Given the description of an element on the screen output the (x, y) to click on. 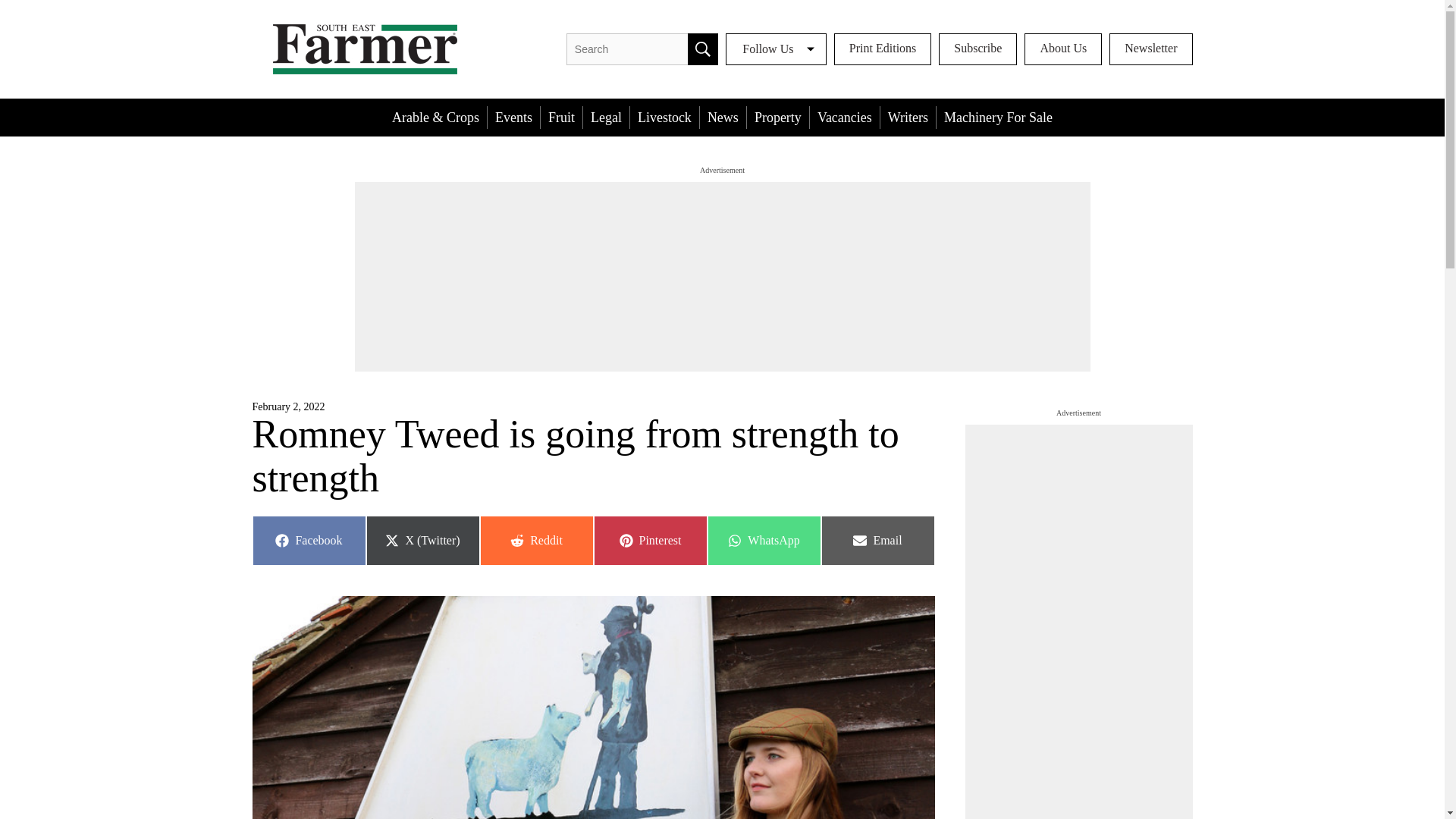
Fruit (561, 117)
Follow Us (776, 49)
Events (308, 540)
Legal (513, 117)
Newsletter (605, 117)
Vacancies (1150, 49)
Search (649, 540)
Machinery For Sale (844, 117)
Print Editions (877, 540)
Livestock (763, 540)
Property (702, 49)
